Given the description of an element on the screen output the (x, y) to click on. 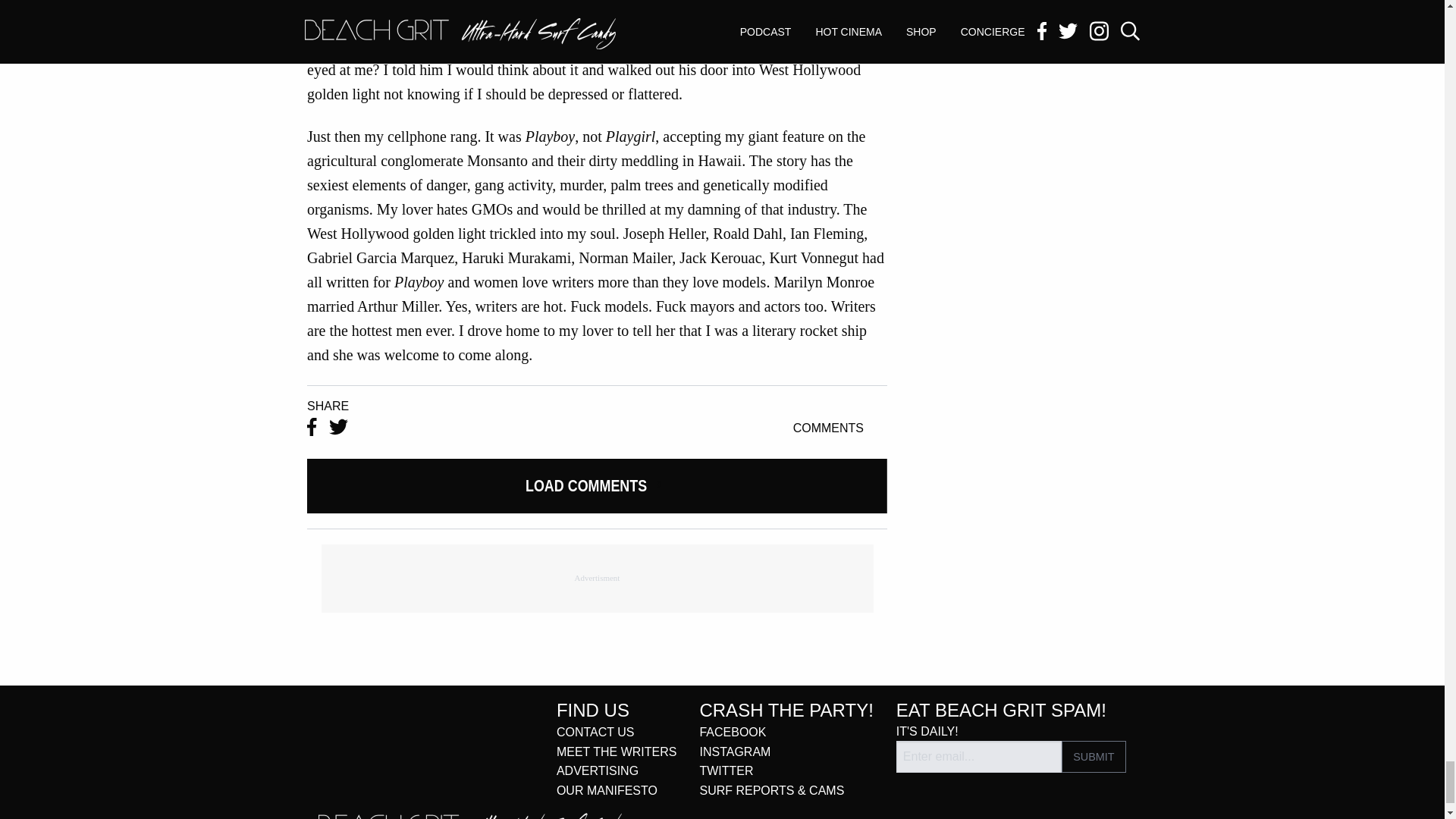
BG-LOGO (469, 816)
MEET THE WRITERS (616, 751)
CONTACT US (595, 731)
Submit (1093, 757)
